Given the description of an element on the screen output the (x, y) to click on. 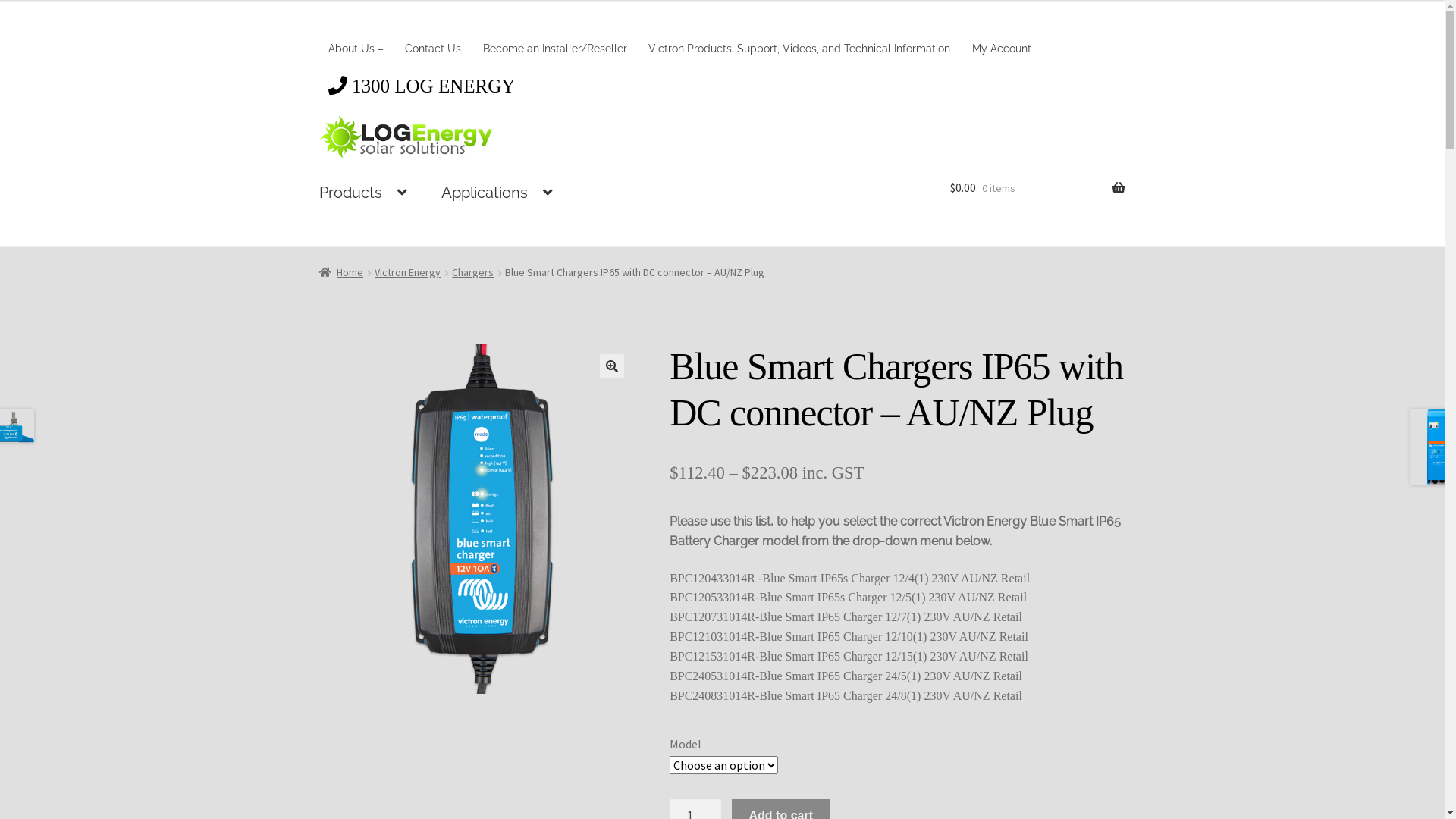
1300 LOG ENERGY Element type: text (421, 90)
Become an Installer/Reseller Element type: text (555, 48)
349_642_20180705154018 Element type: hover (476, 518)
Chargers Element type: text (472, 272)
Products Element type: text (363, 192)
Applications Element type: text (496, 192)
$0.00 0 items Element type: text (1037, 187)
Victron Products: Support, Videos, and Technical Information Element type: text (799, 48)
Victron Energy Element type: text (407, 272)
Contact Us Element type: text (432, 48)
Home Element type: text (341, 272)
My Account Element type: text (1002, 48)
